Given the description of an element on the screen output the (x, y) to click on. 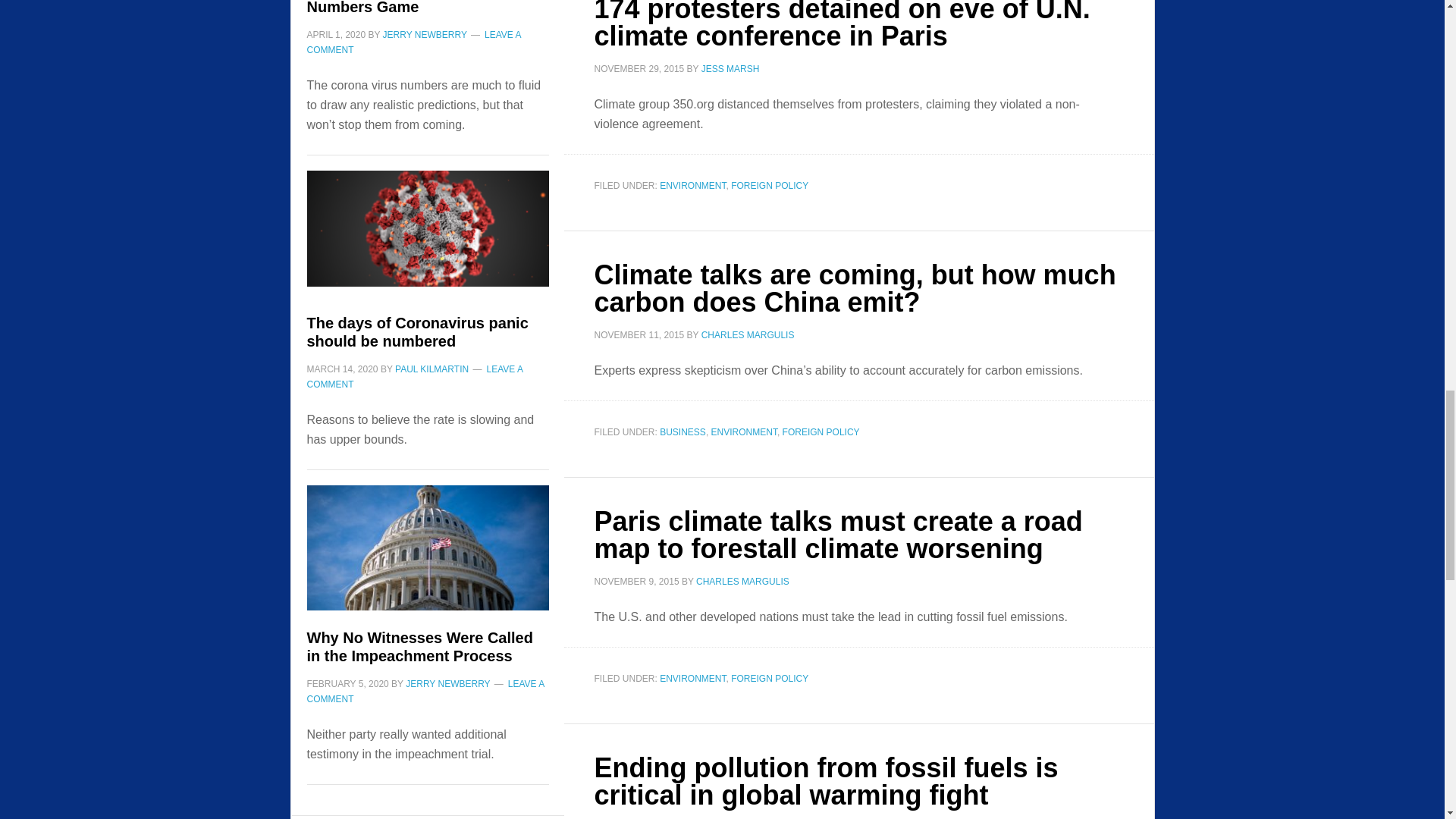
Why No Witnesses Were Called in the Impeachment Process (426, 556)
ENVIRONMENT (692, 185)
FOREIGN POLICY (769, 185)
JESS MARSH (730, 68)
The days of Coronavirus panic should be numbered (426, 241)
